Given the description of an element on the screen output the (x, y) to click on. 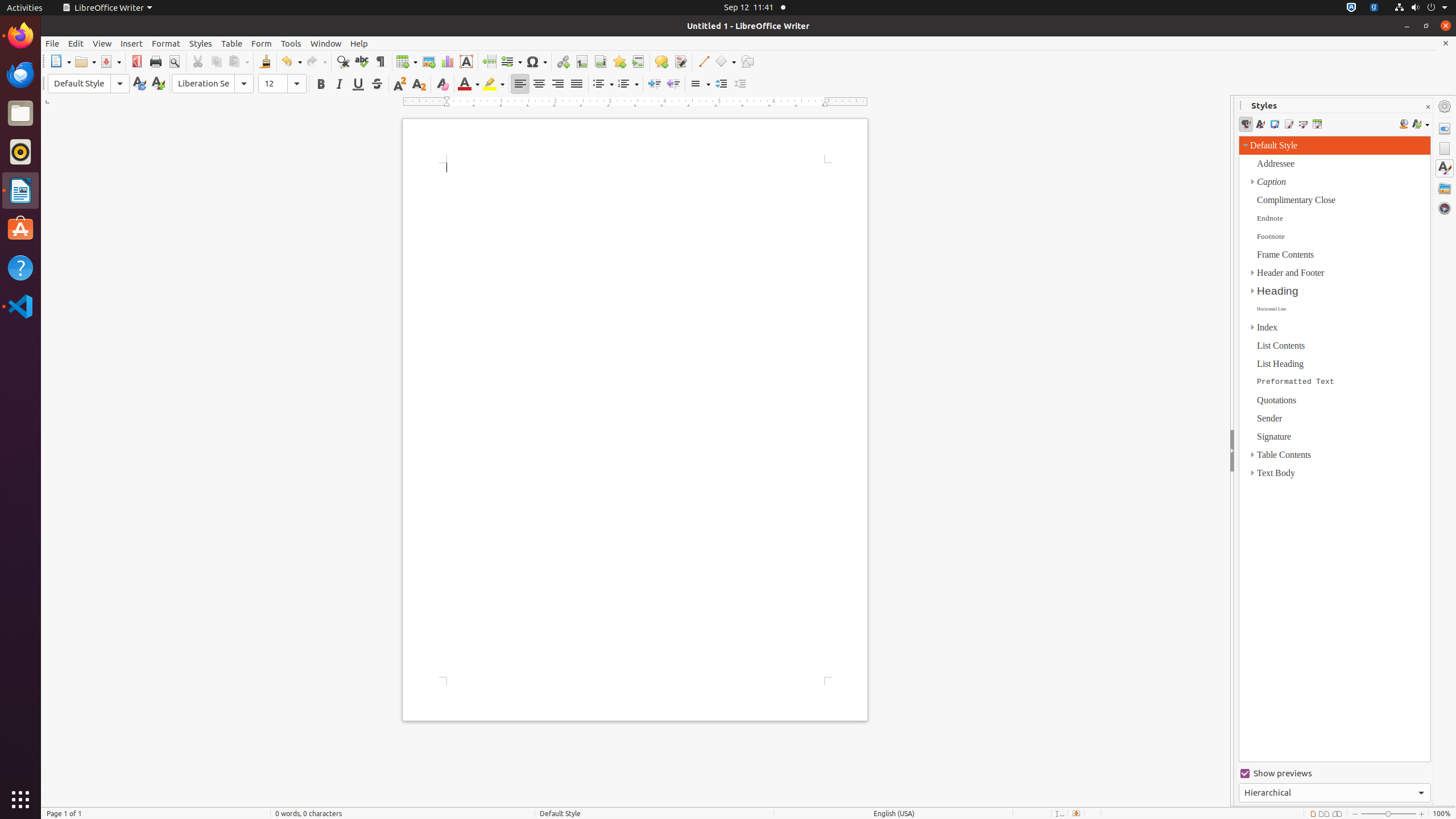
org.kde.StatusNotifierItem-14077-1 Element type: menu (1373, 7)
Paragraph Style Element type: panel (88, 83)
Activities Element type: label (24, 7)
IsaHelpMain.desktop Element type: label (75, 170)
Font Size Element type: combo-box (282, 83)
